Given the description of an element on the screen output the (x, y) to click on. 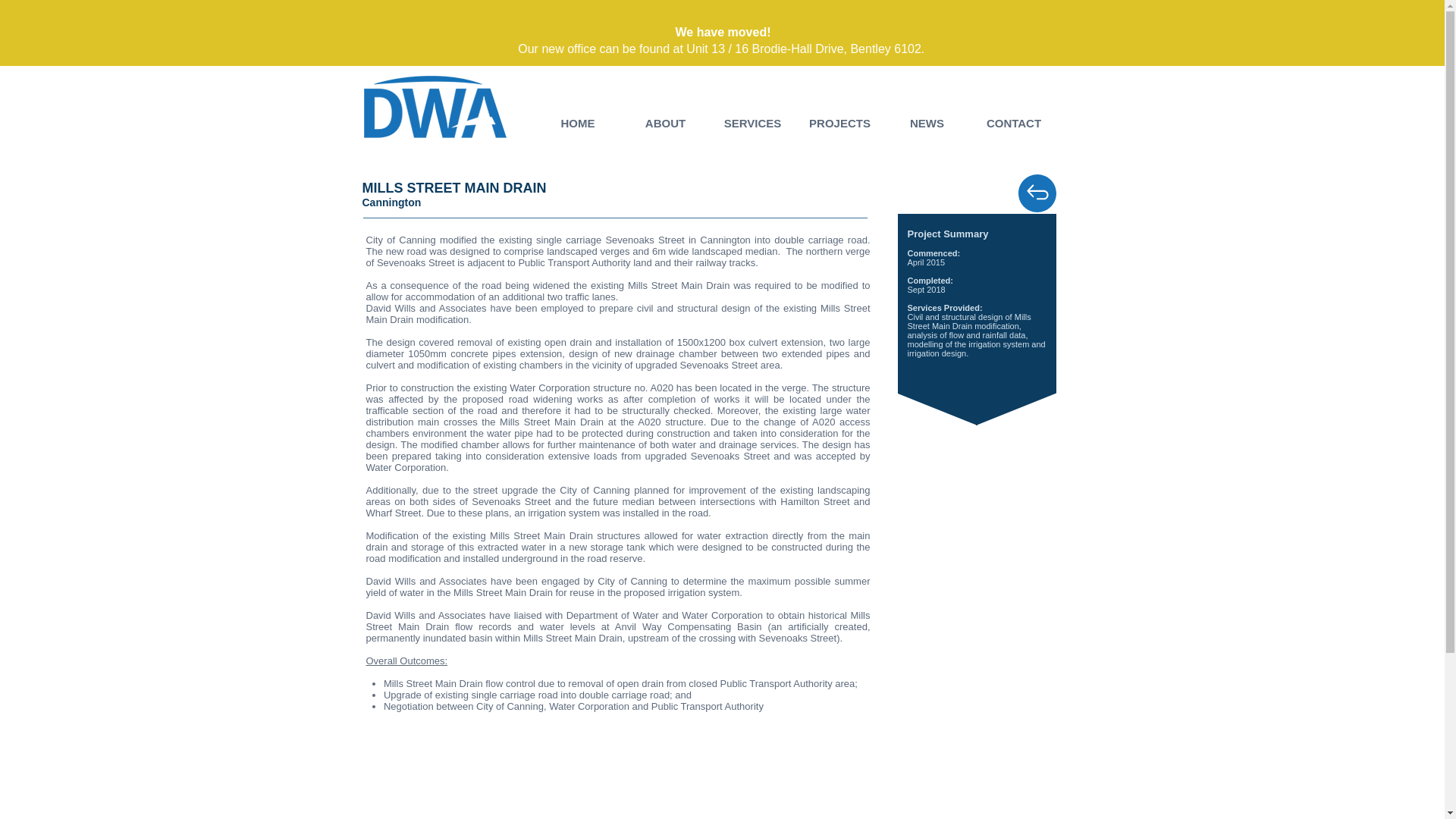
CONTACT (1014, 123)
HOME (577, 123)
NEWS (925, 123)
PROJECTS (839, 123)
